Given the description of an element on the screen output the (x, y) to click on. 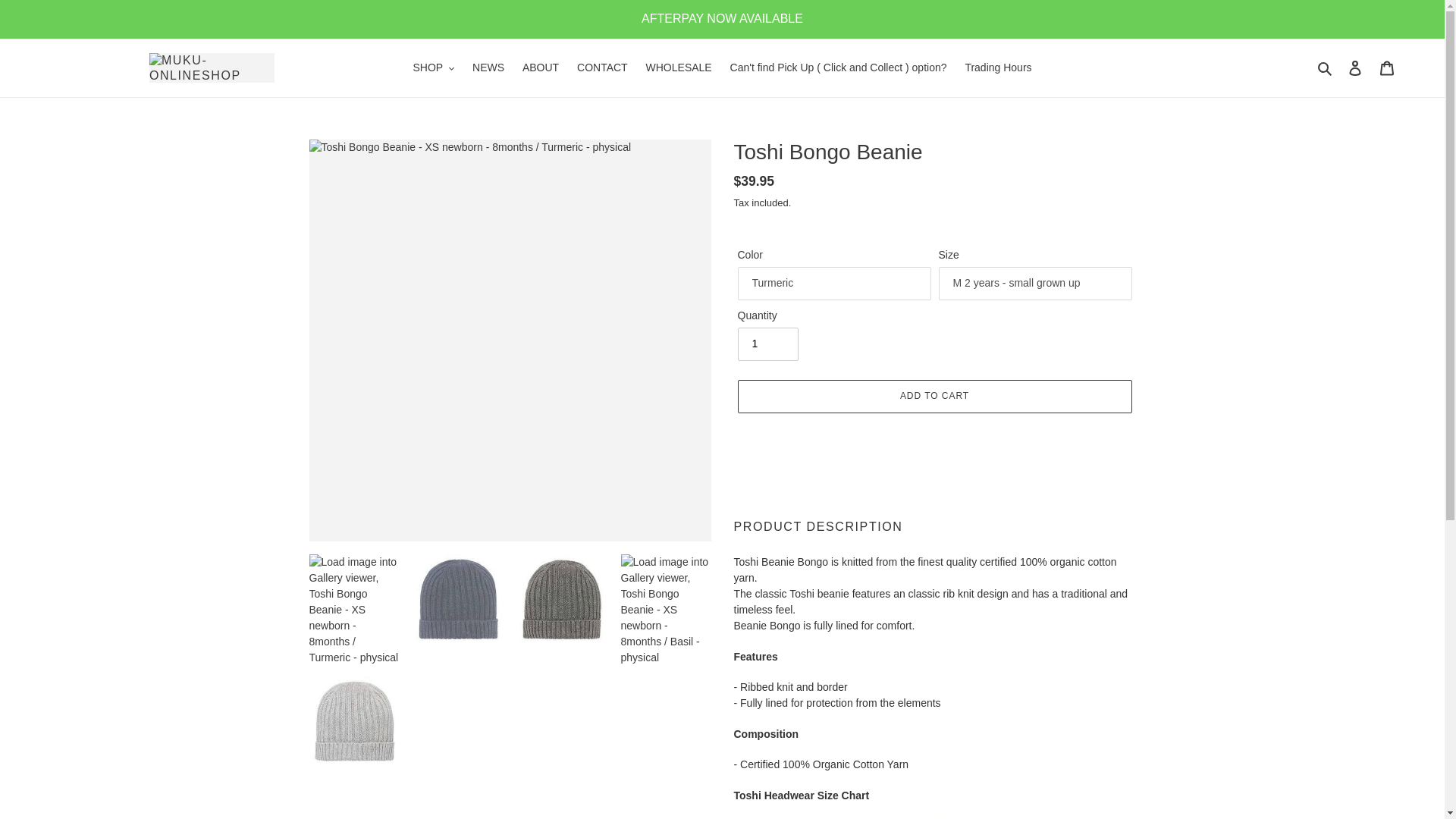
Log in (1355, 67)
CONTACT (601, 67)
Trading Hours (997, 67)
Cart (1387, 67)
SHOP (432, 67)
WHOLESALE (679, 67)
NEWS (488, 67)
Search (1326, 67)
ABOUT (540, 67)
1 (766, 344)
